Given the description of an element on the screen output the (x, y) to click on. 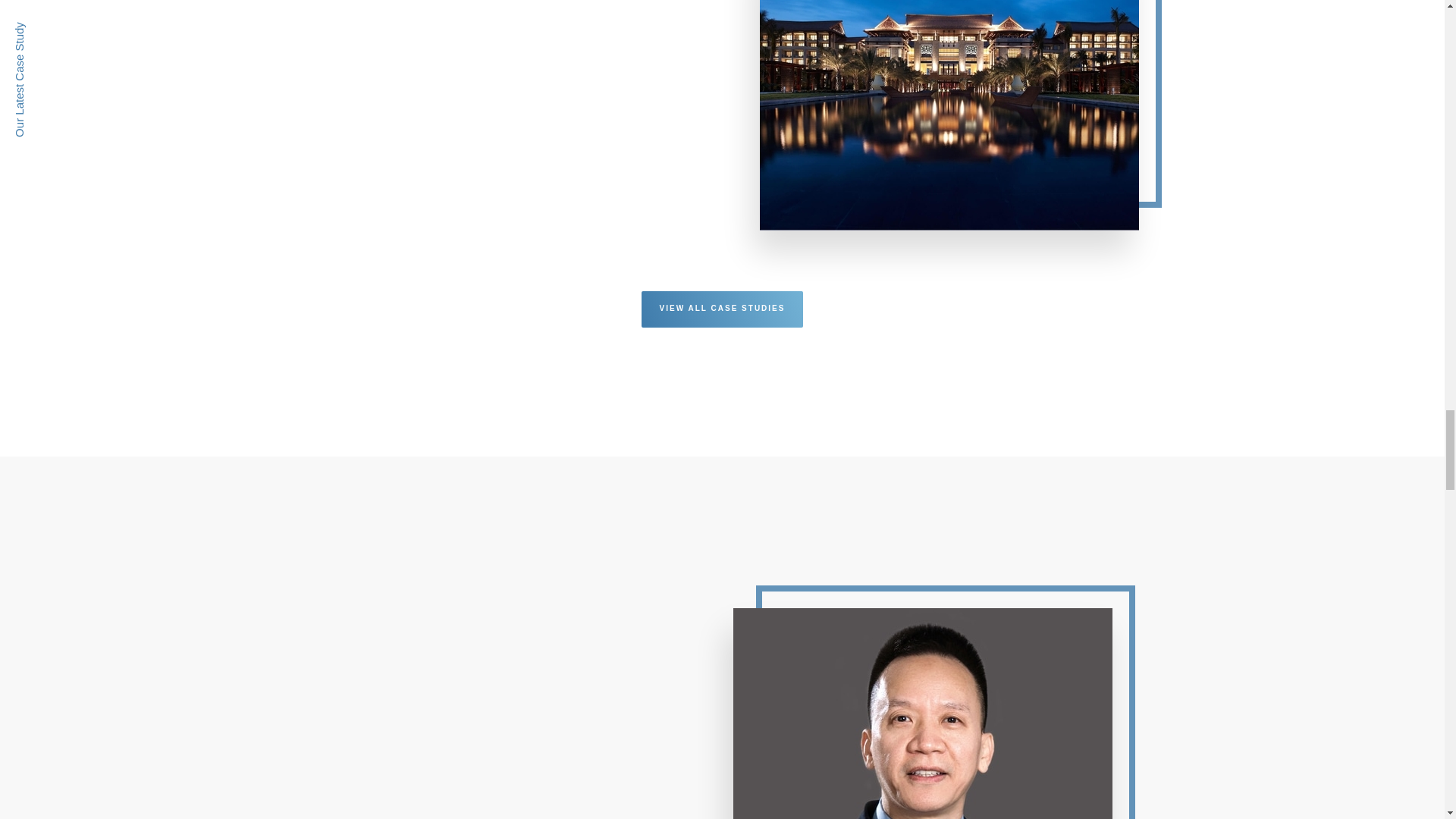
VIEW ALL CASE STUDIES (722, 309)
